Given the description of an element on the screen output the (x, y) to click on. 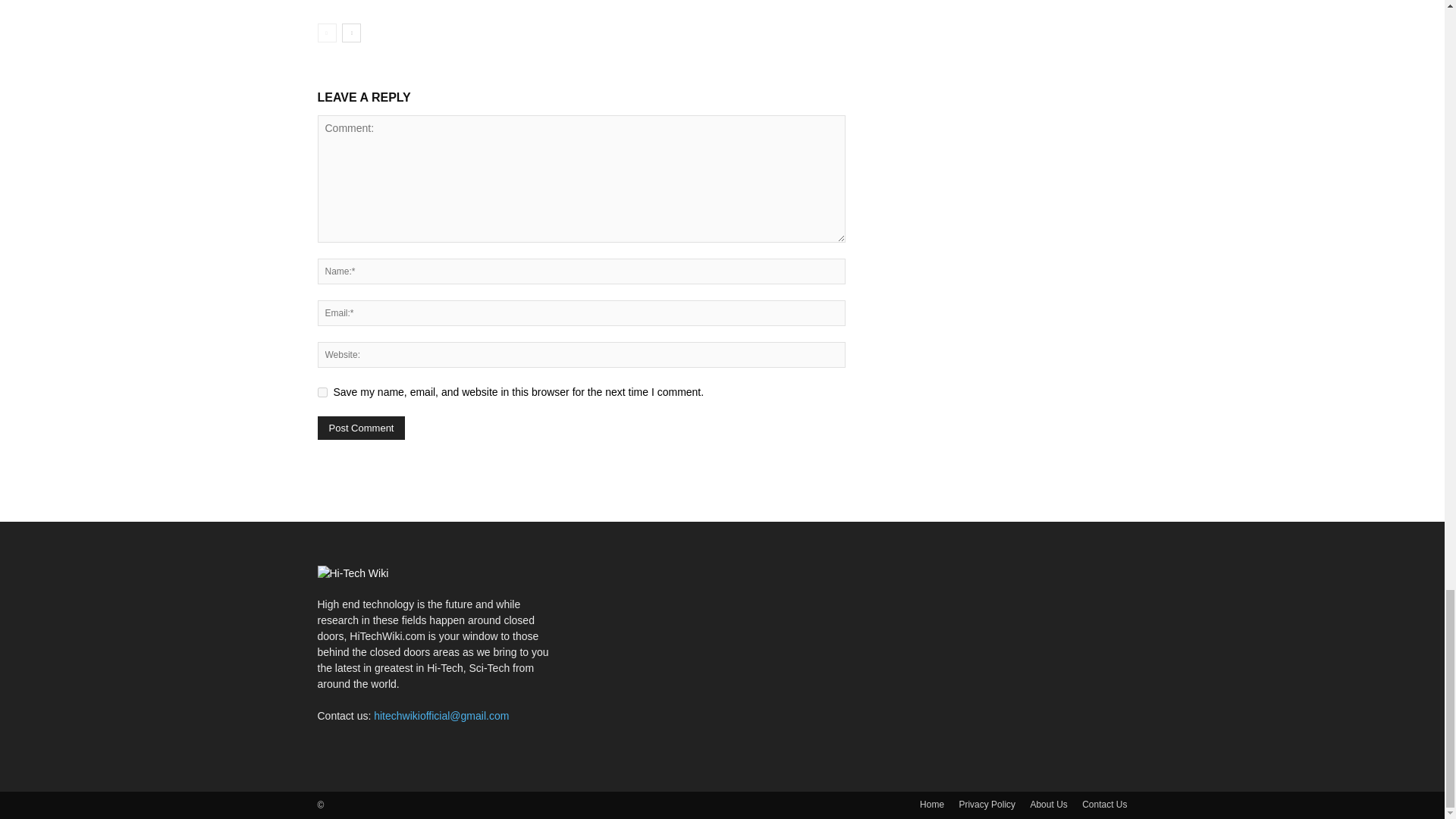
yes (321, 392)
Post Comment (360, 427)
